Given the description of an element on the screen output the (x, y) to click on. 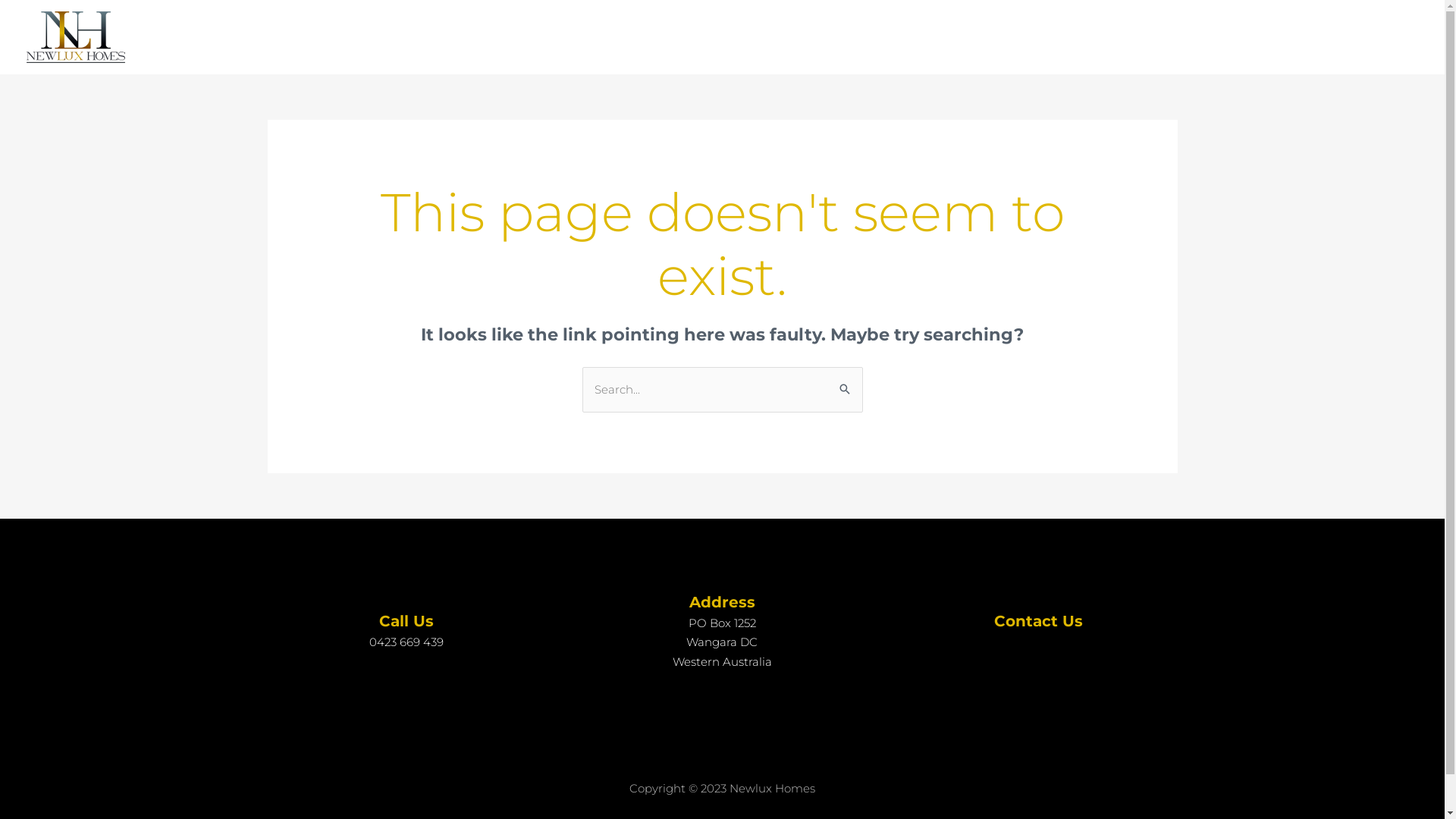
Search Element type: text (845, 382)
